Given the description of an element on the screen output the (x, y) to click on. 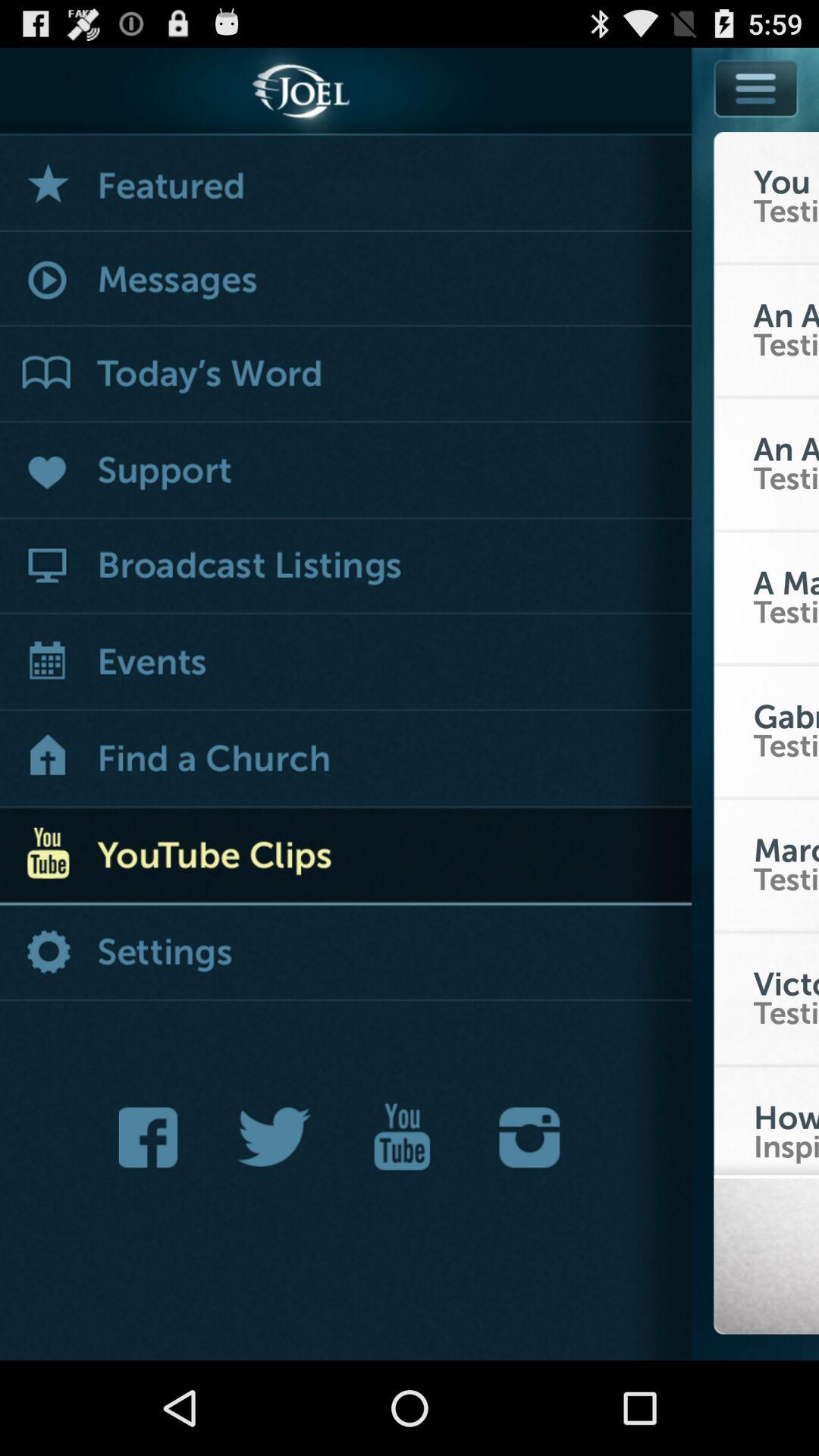
share on twitter (274, 1137)
